Given the description of an element on the screen output the (x, y) to click on. 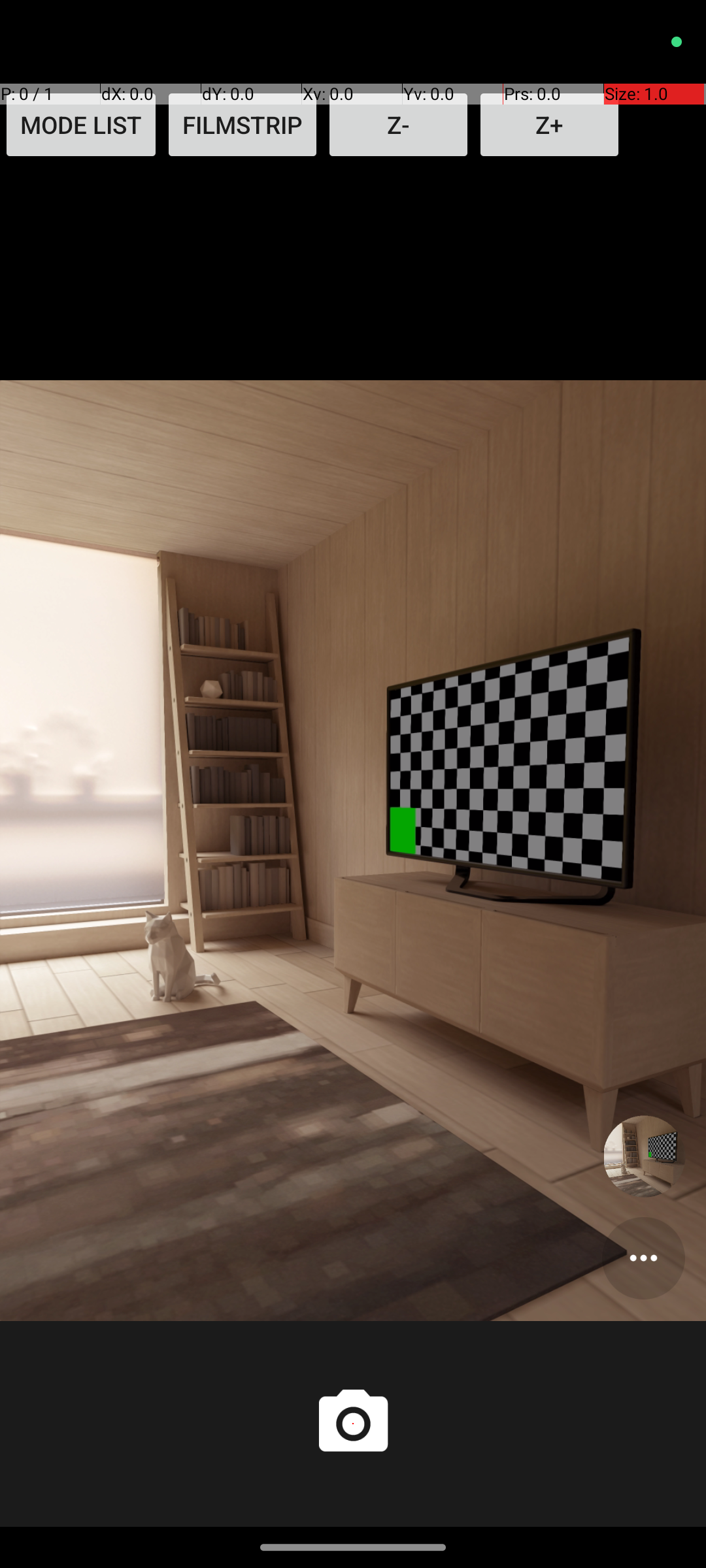
Options Element type: android.widget.LinearLayout (643, 1258)
Shutter Element type: android.widget.ImageView (353, 1423)
MODE LIST Element type: android.widget.Button (81, 124)
FILMSTRIP Element type: android.widget.Button (242, 124)
Z- Element type: android.widget.Button (397, 124)
Z+ Element type: android.widget.Button (548, 124)
